Given the description of an element on the screen output the (x, y) to click on. 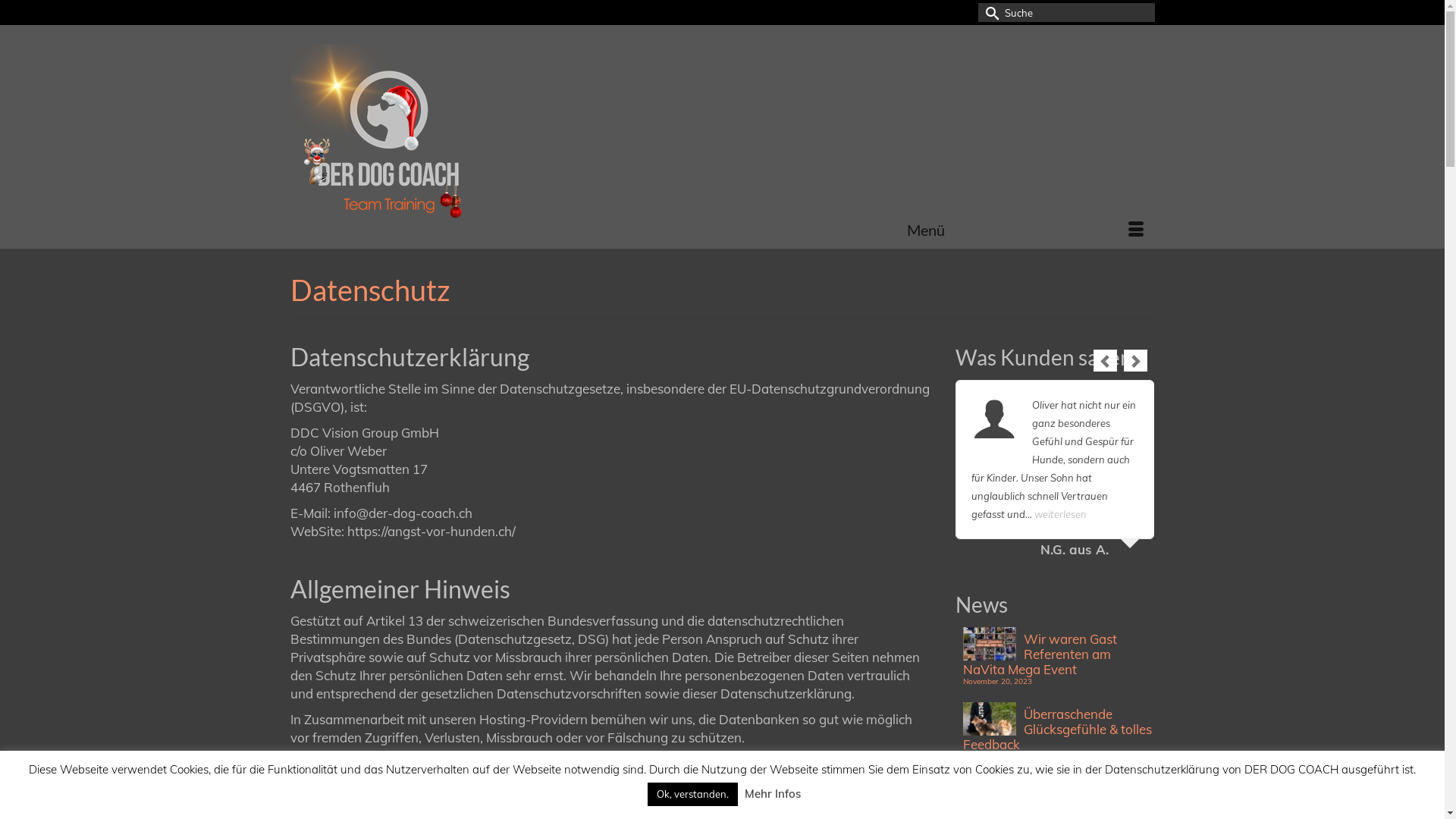
Wir waren Gast Referenten am NaVita Mega Event Element type: text (1058, 652)
Mehr Infos Element type: text (772, 793)
Ok, verstanden. Element type: text (692, 794)
UP Element type: text (1419, 24)
ANGST VOR HUNDEN Element type: hover (425, 142)
DOWN Element type: text (1419, 794)
Kinder leiden unter Hundeangst Element type: text (1058, 794)
weiterlesen Element type: text (1060, 514)
